Given the description of an element on the screen output the (x, y) to click on. 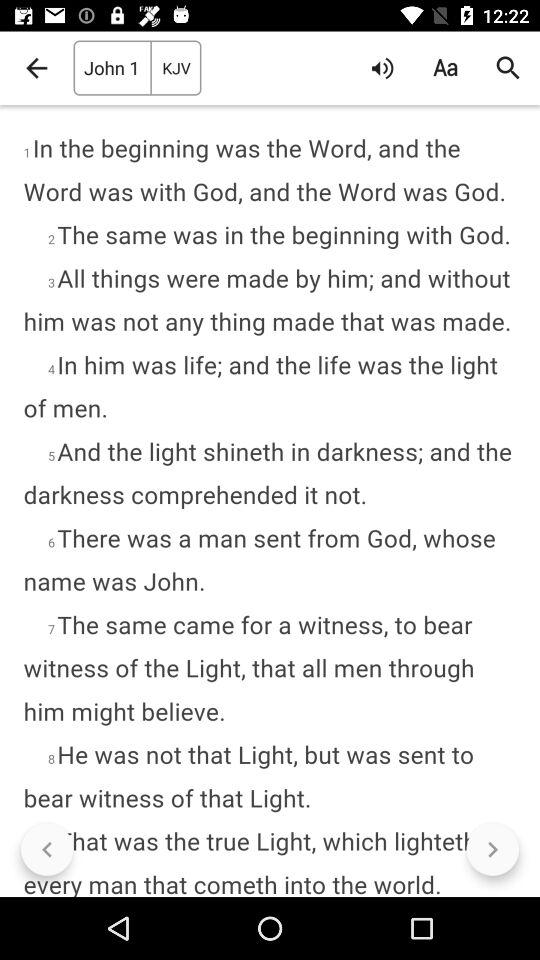
jump until kjv item (176, 67)
